Given the description of an element on the screen output the (x, y) to click on. 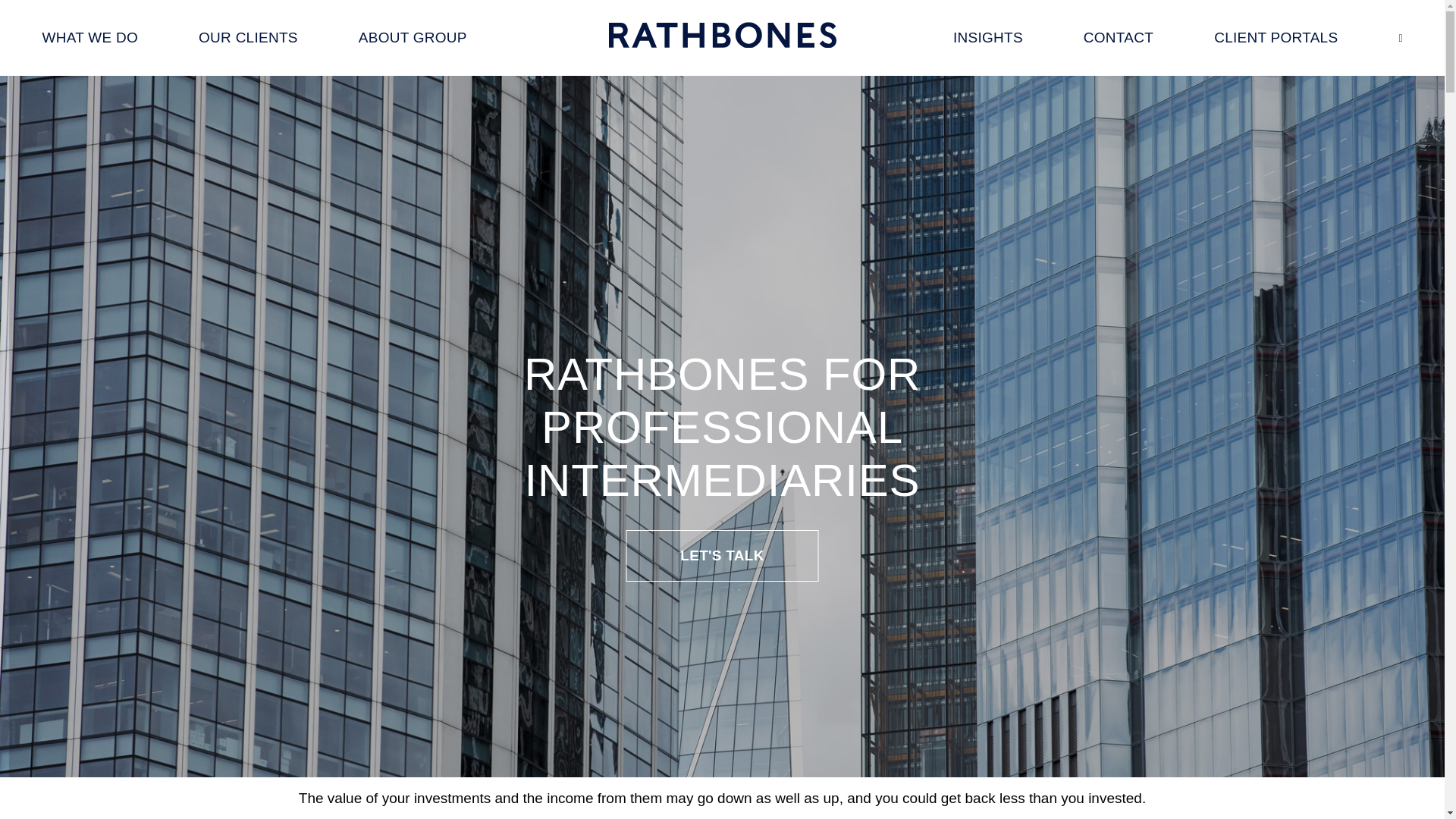
OUR CLIENTS (248, 38)
WHAT WE DO (90, 38)
ABOUT GROUP (412, 38)
